Given the description of an element on the screen output the (x, y) to click on. 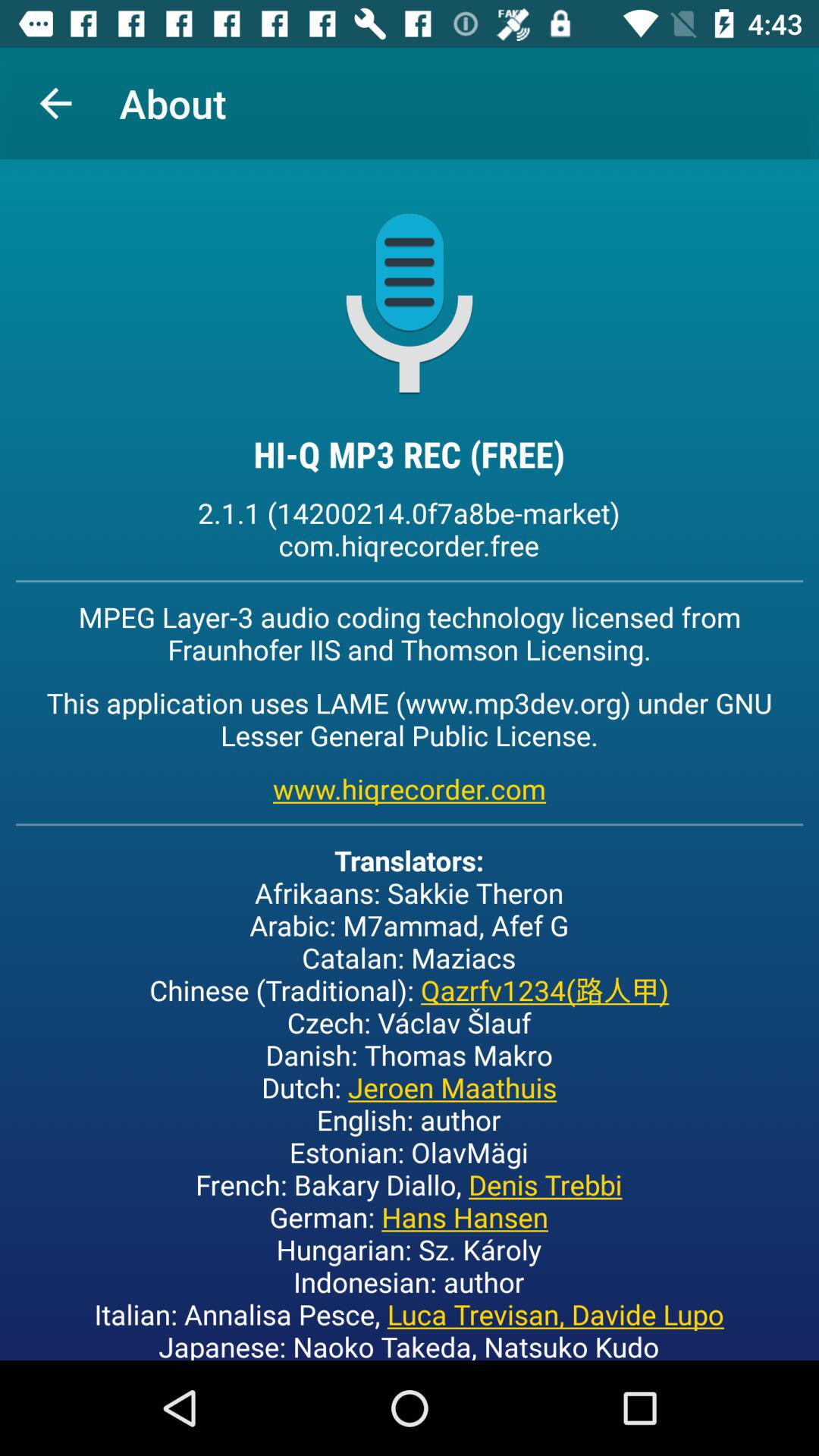
jump to translators afrikaans sakkie (408, 1100)
